Given the description of an element on the screen output the (x, y) to click on. 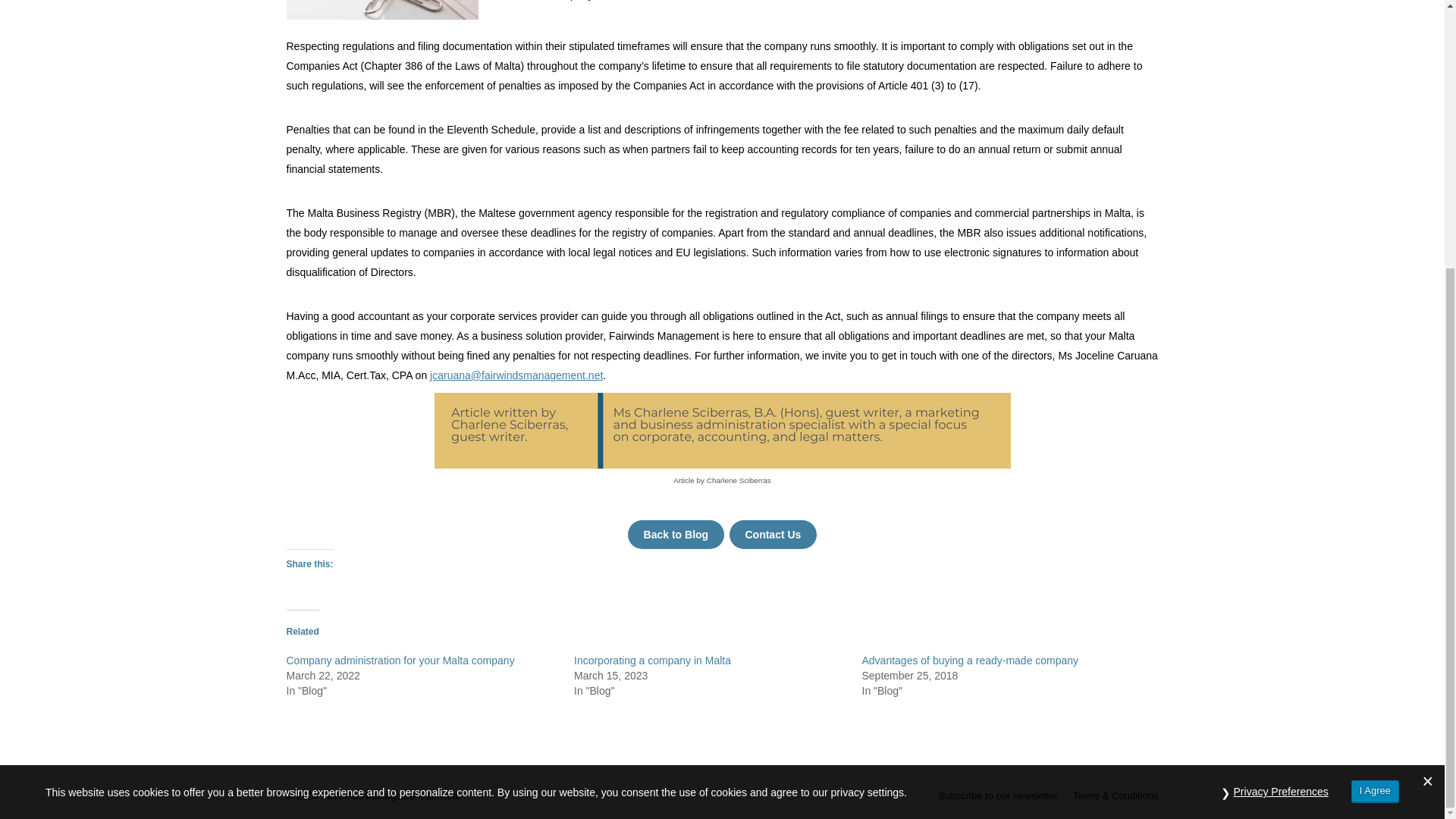
Company administration for your Malta company (400, 660)
